Given the description of an element on the screen output the (x, y) to click on. 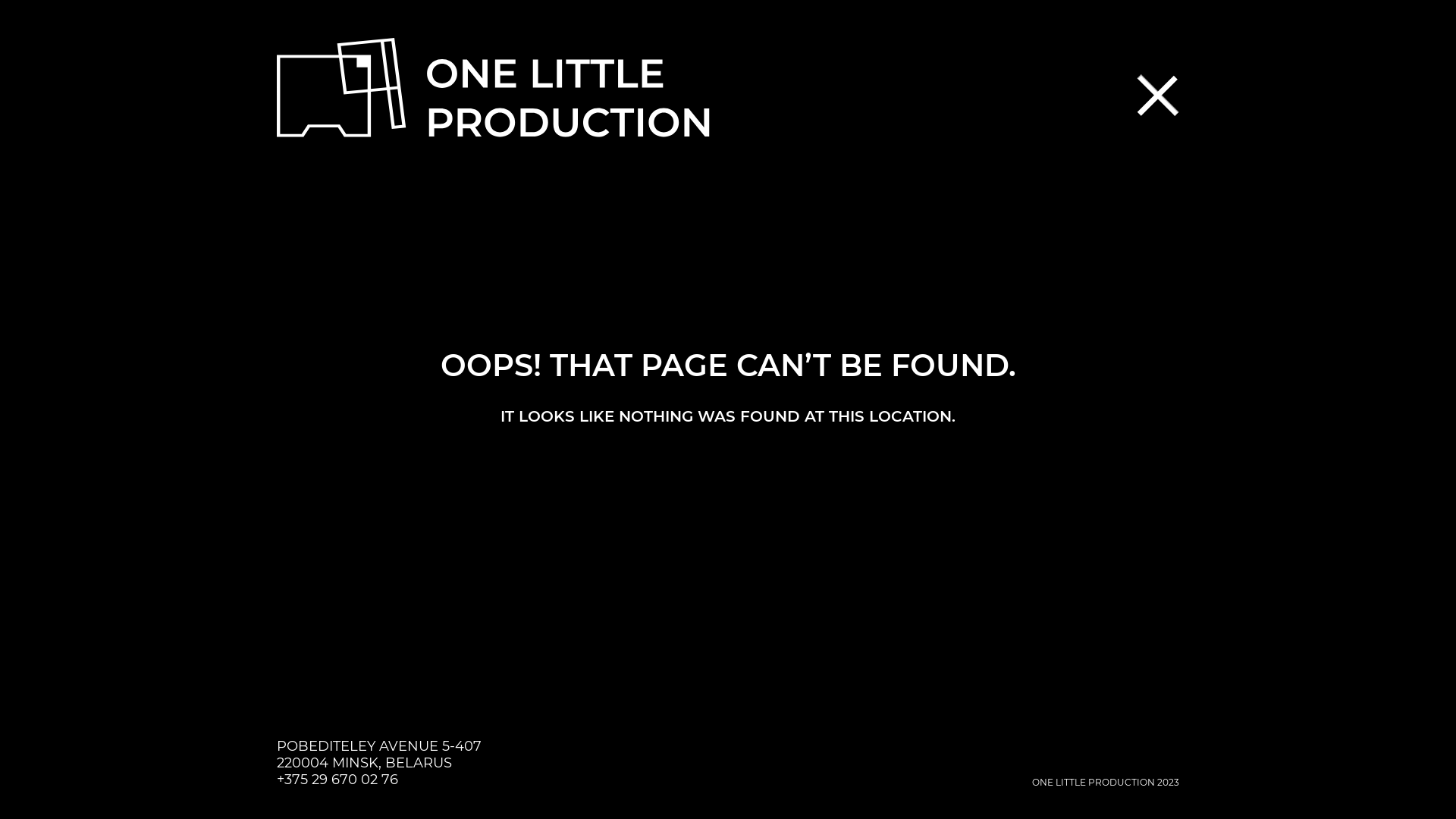
+375 29 670 02 76 Element type: text (337, 779)
